Given the description of an element on the screen output the (x, y) to click on. 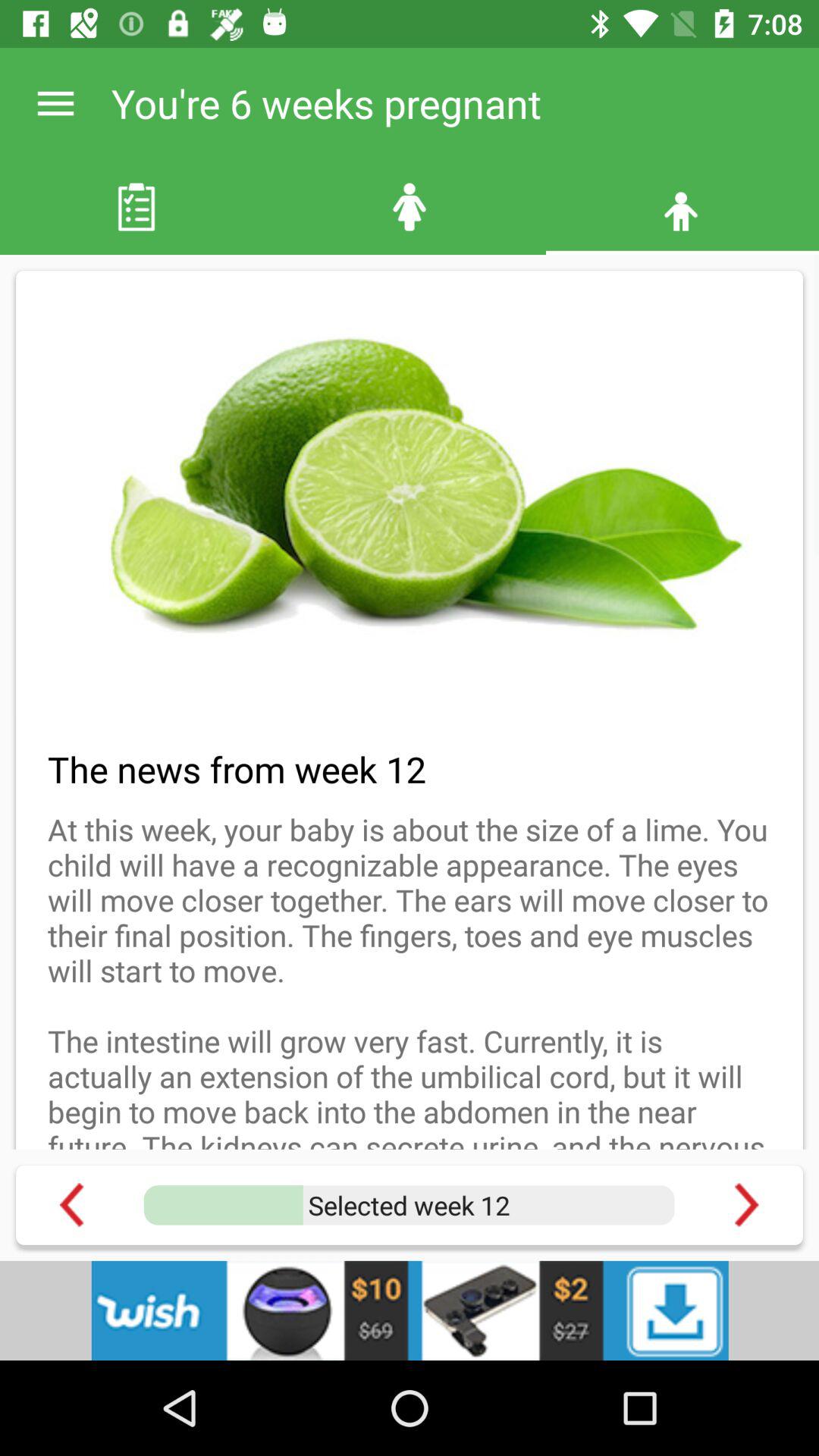
best pregnancy app for you (746, 1204)
